Given the description of an element on the screen output the (x, y) to click on. 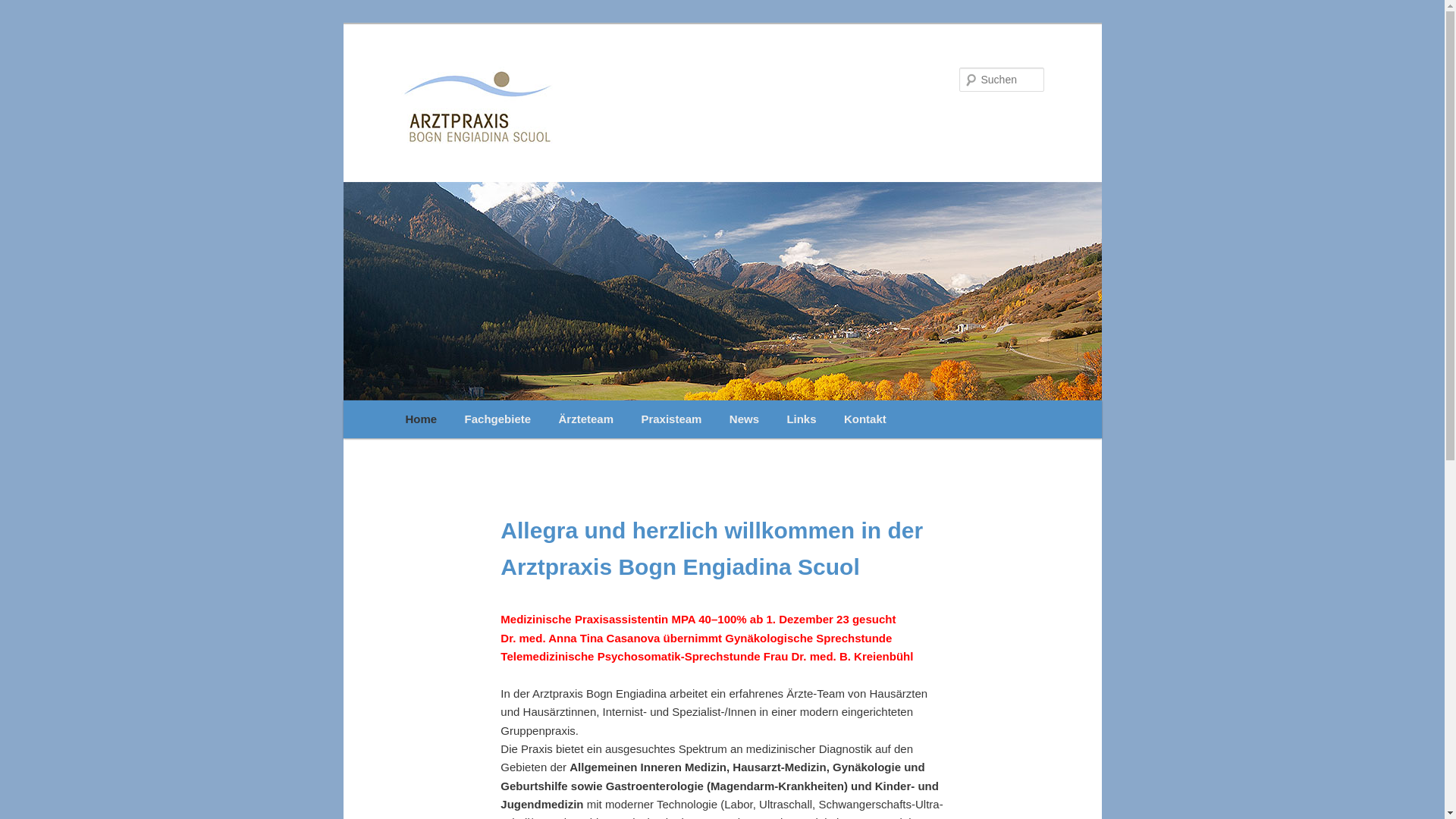
News Element type: text (744, 419)
Zum Inhalt wechseln Element type: text (22, 22)
Suchen Element type: text (25, 8)
Home Element type: text (420, 419)
Fachgebiete Element type: text (497, 419)
Praxisteam Element type: text (671, 419)
Startseite Website Arztpraxis Bogn Engiadina Scuol Element type: hover (619, 104)
Kontakt Element type: text (865, 419)
Links Element type: text (801, 419)
